Given the description of an element on the screen output the (x, y) to click on. 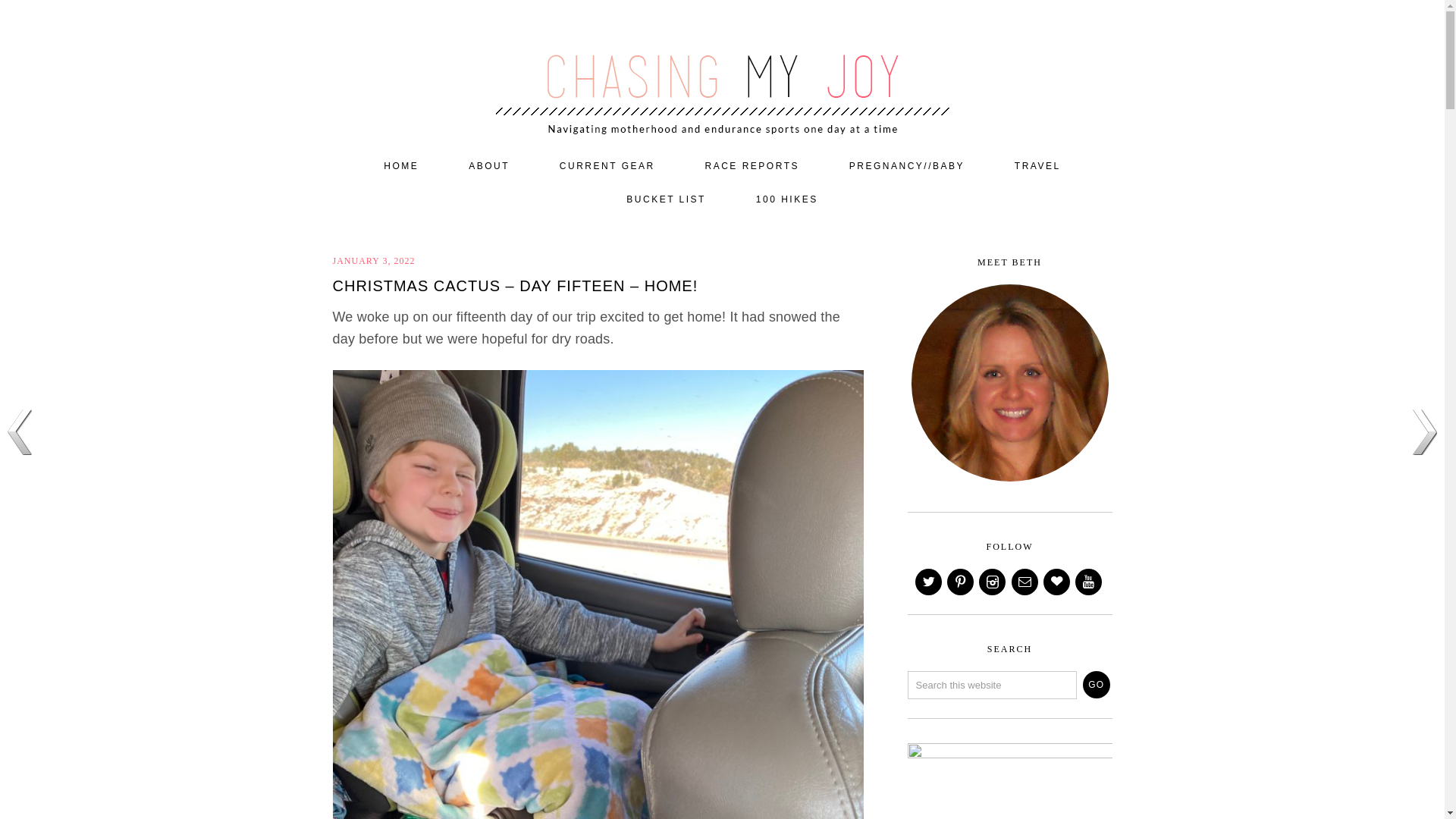
GO (1096, 684)
TRAVEL (1037, 166)
Bloglovin (1057, 582)
CHASING MY JOY (721, 70)
Youtube (1089, 582)
ABOUT (488, 166)
HOME (401, 166)
GO (1096, 684)
Pinterest (961, 582)
GO (1096, 684)
